Given the description of an element on the screen output the (x, y) to click on. 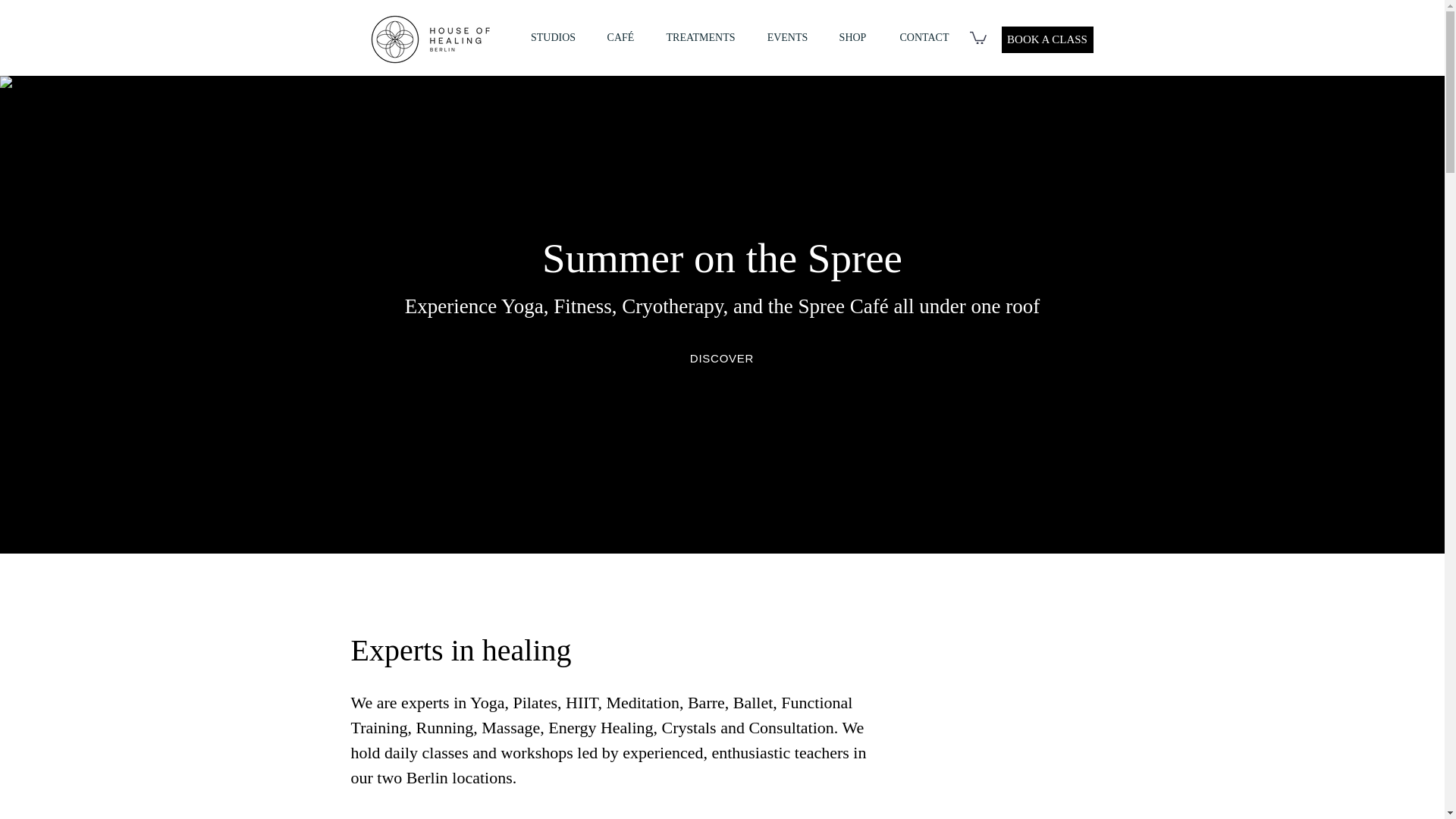
TREATMENTS (700, 37)
EVENTS (788, 37)
DISCOVER (721, 358)
BOOK A CLASS (1047, 39)
SHOP (853, 37)
CONTACT (924, 37)
